Given the description of an element on the screen output the (x, y) to click on. 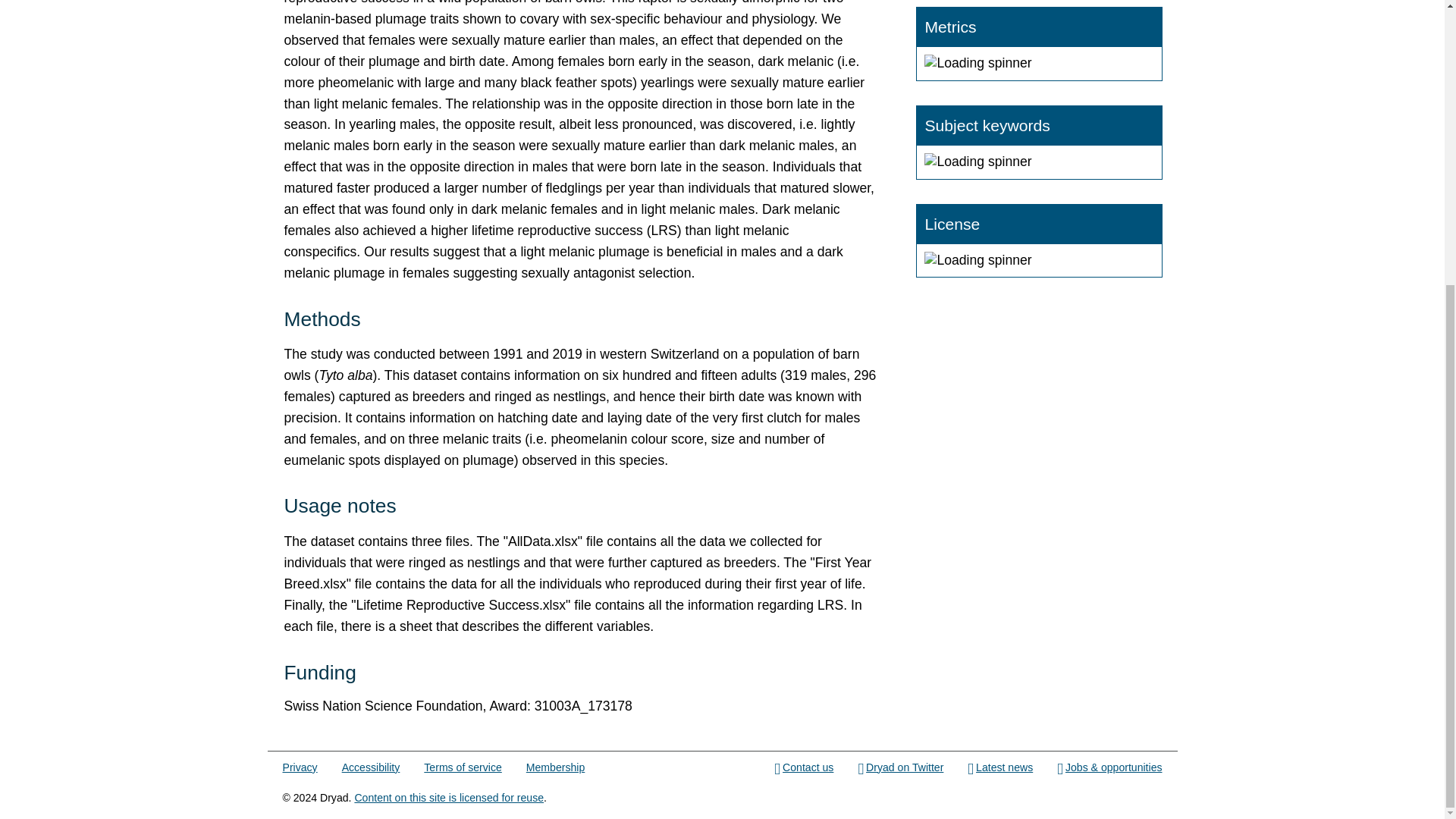
Privacy (299, 768)
Terms of service (461, 768)
Accessibility (371, 768)
Membership (555, 768)
Content on this site is licensed for reuse (448, 797)
Contact us (803, 768)
